Given the description of an element on the screen output the (x, y) to click on. 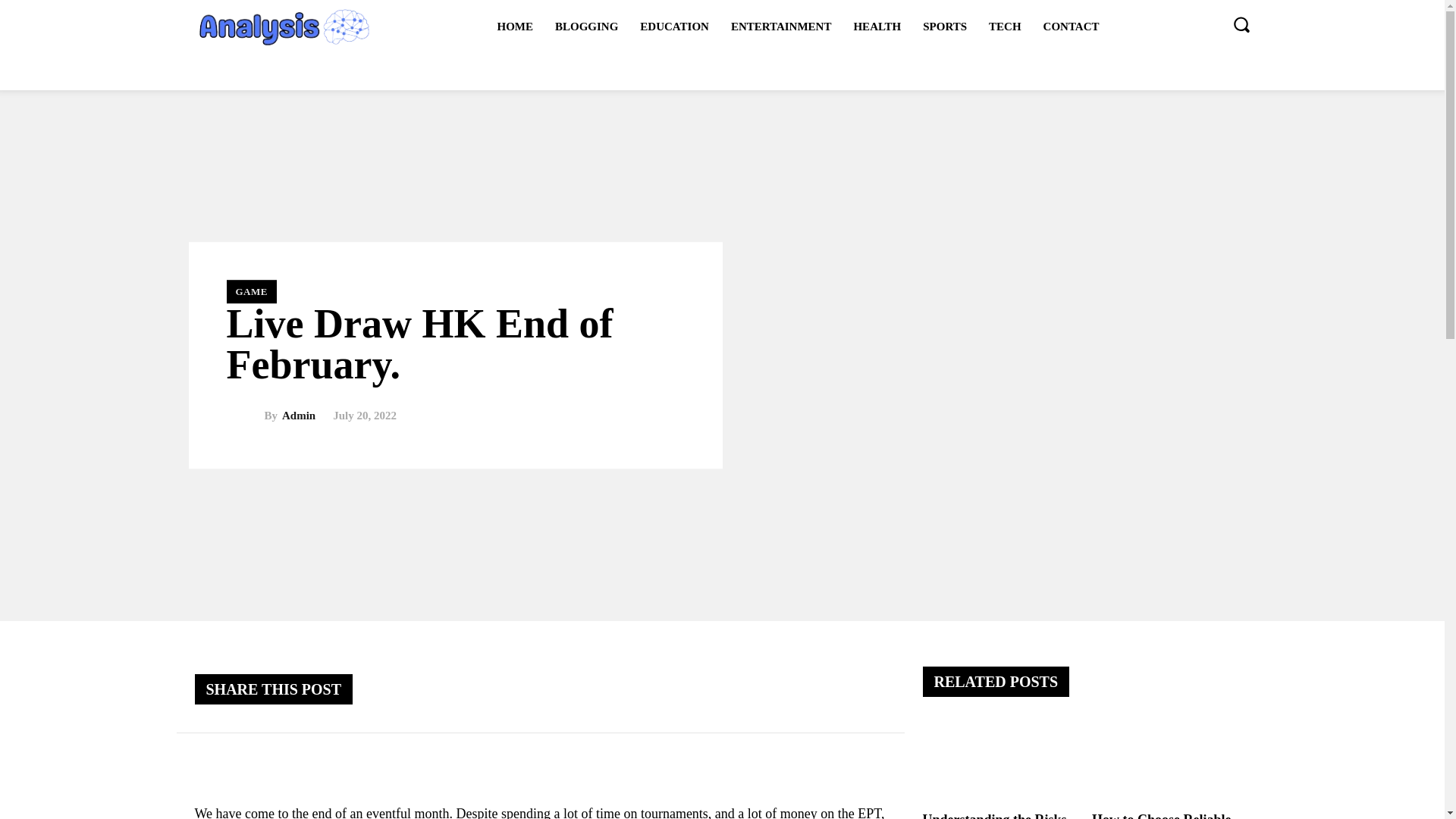
BLOGGING (586, 26)
Understanding the Risks and Rewards of LoL Boosting (1000, 763)
HOME (514, 26)
GAME (250, 291)
CONTACT (1070, 26)
SPORTS (944, 26)
Admin (298, 415)
TECH (1004, 26)
ENTERTAINMENT (781, 26)
Admin (244, 415)
